Given the description of an element on the screen output the (x, y) to click on. 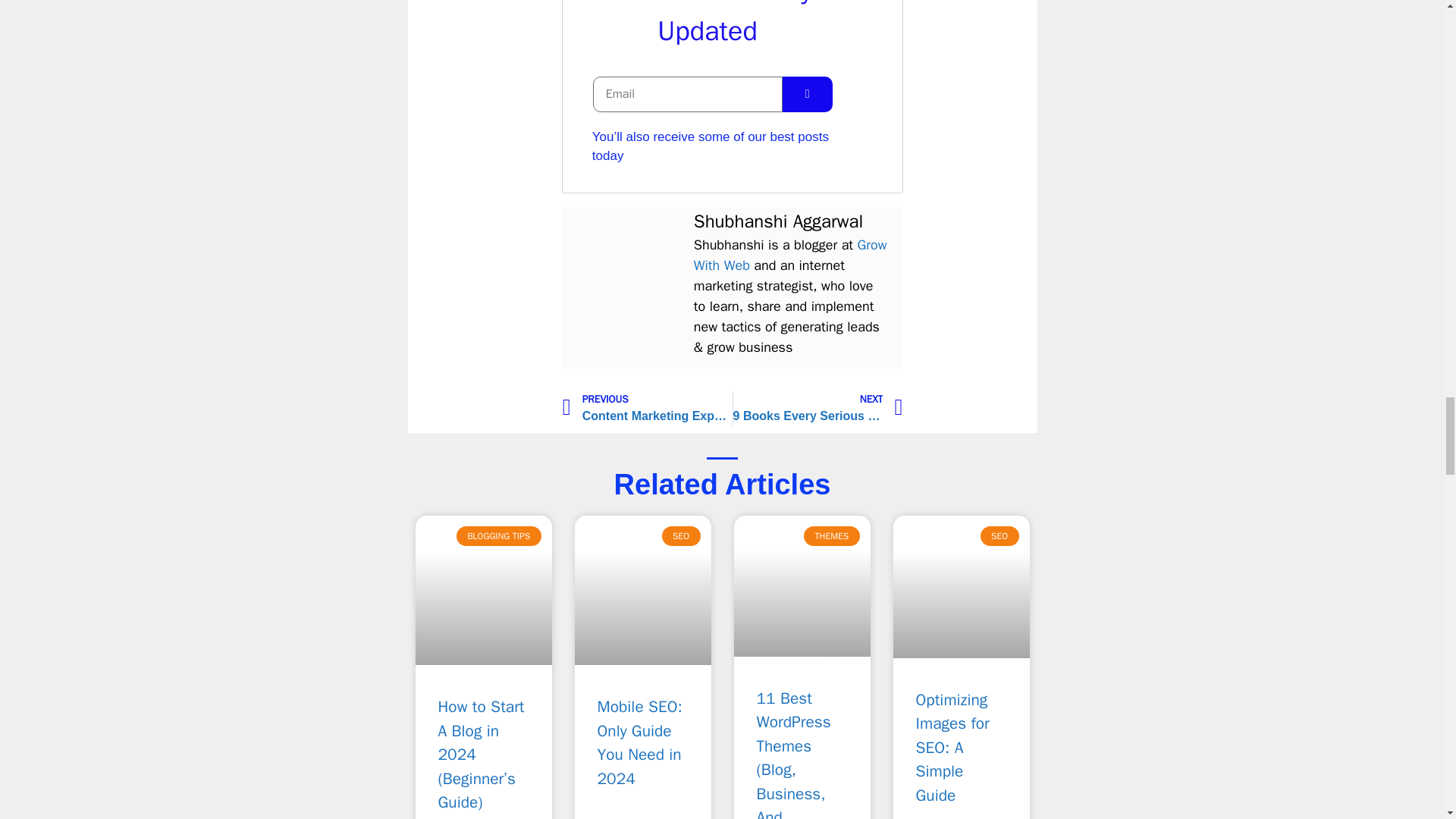
Grow With Web (790, 254)
Mobile SEO: Only Guide You Need in 2024 (639, 742)
